Given the description of an element on the screen output the (x, y) to click on. 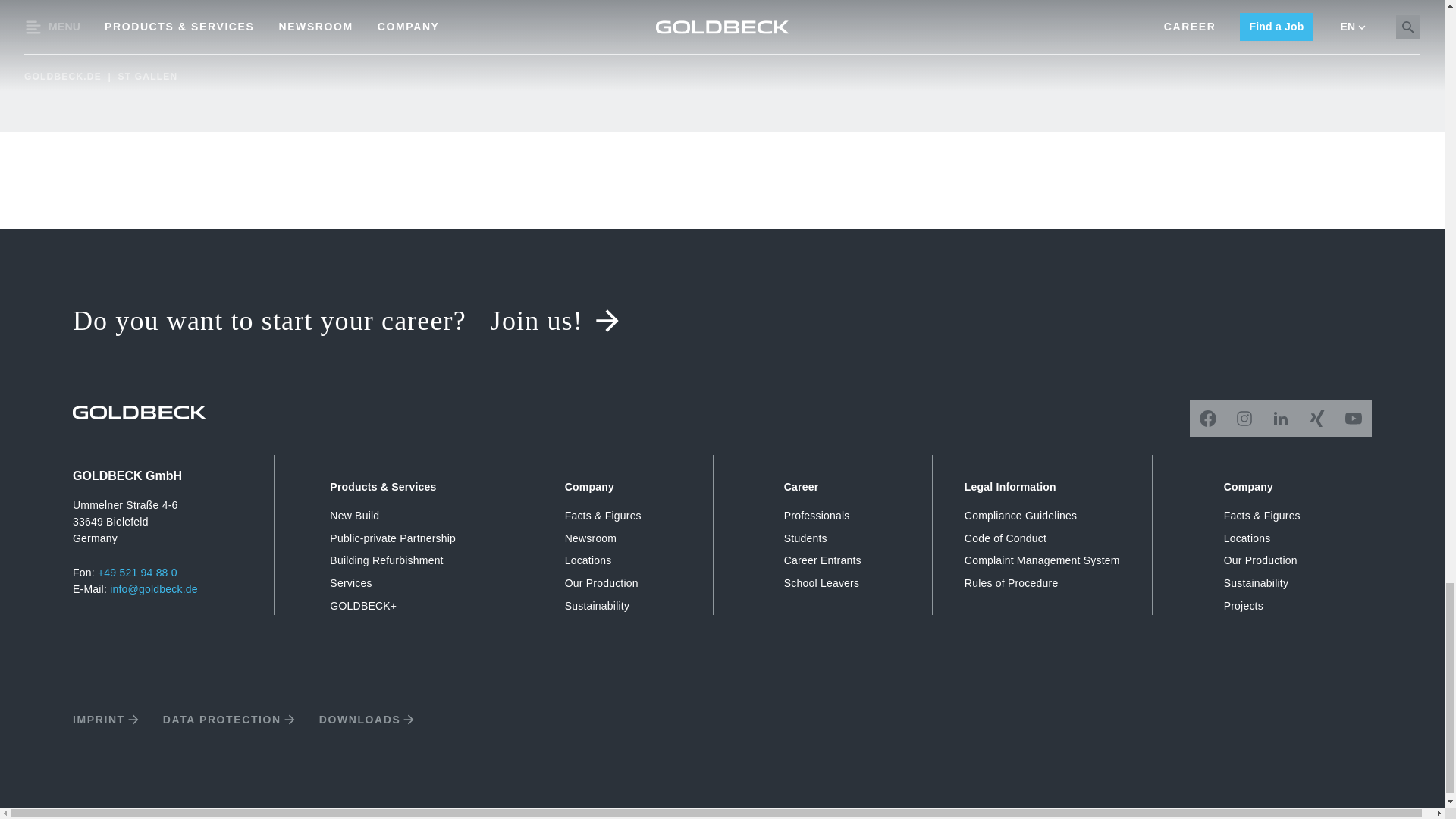
DOWNLOADS (366, 719)
Join us! (555, 320)
DATA PROTECTION (229, 719)
IMPRINT (105, 719)
